Given the description of an element on the screen output the (x, y) to click on. 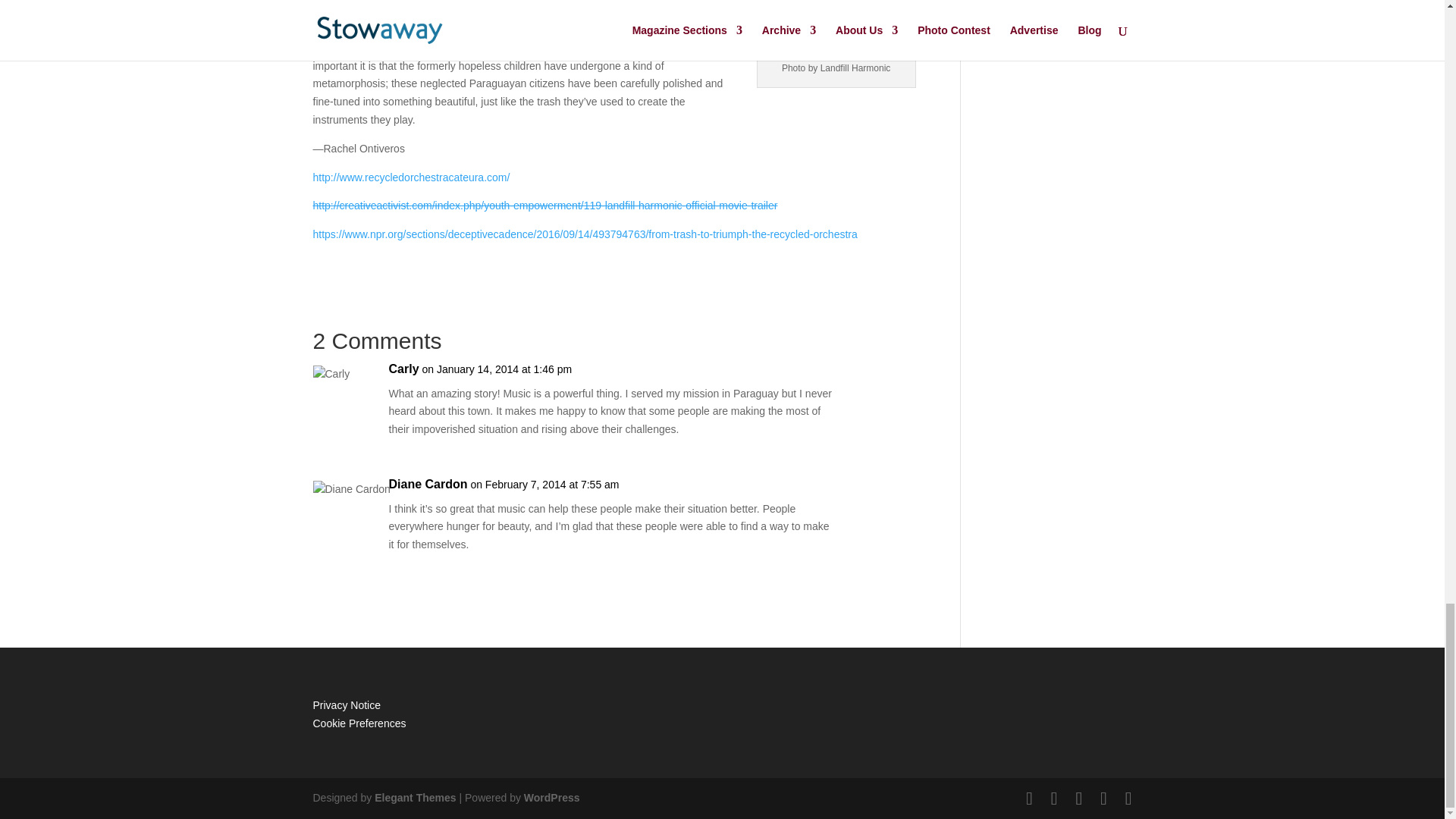
Estevan (835, 2)
Premium WordPress Themes (414, 797)
